Given the description of an element on the screen output the (x, y) to click on. 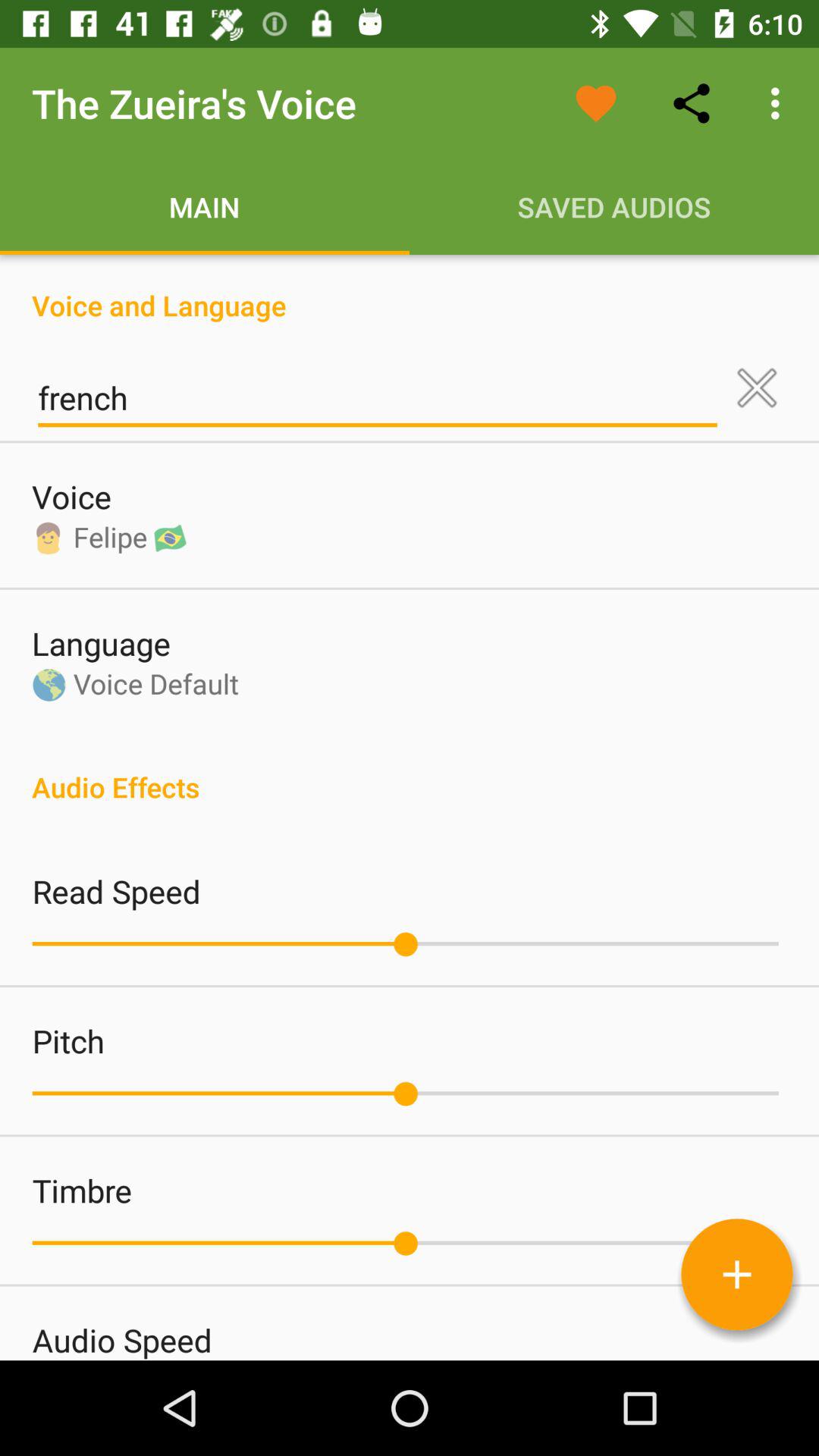
launch the item next to audio speed (737, 1274)
